Given the description of an element on the screen output the (x, y) to click on. 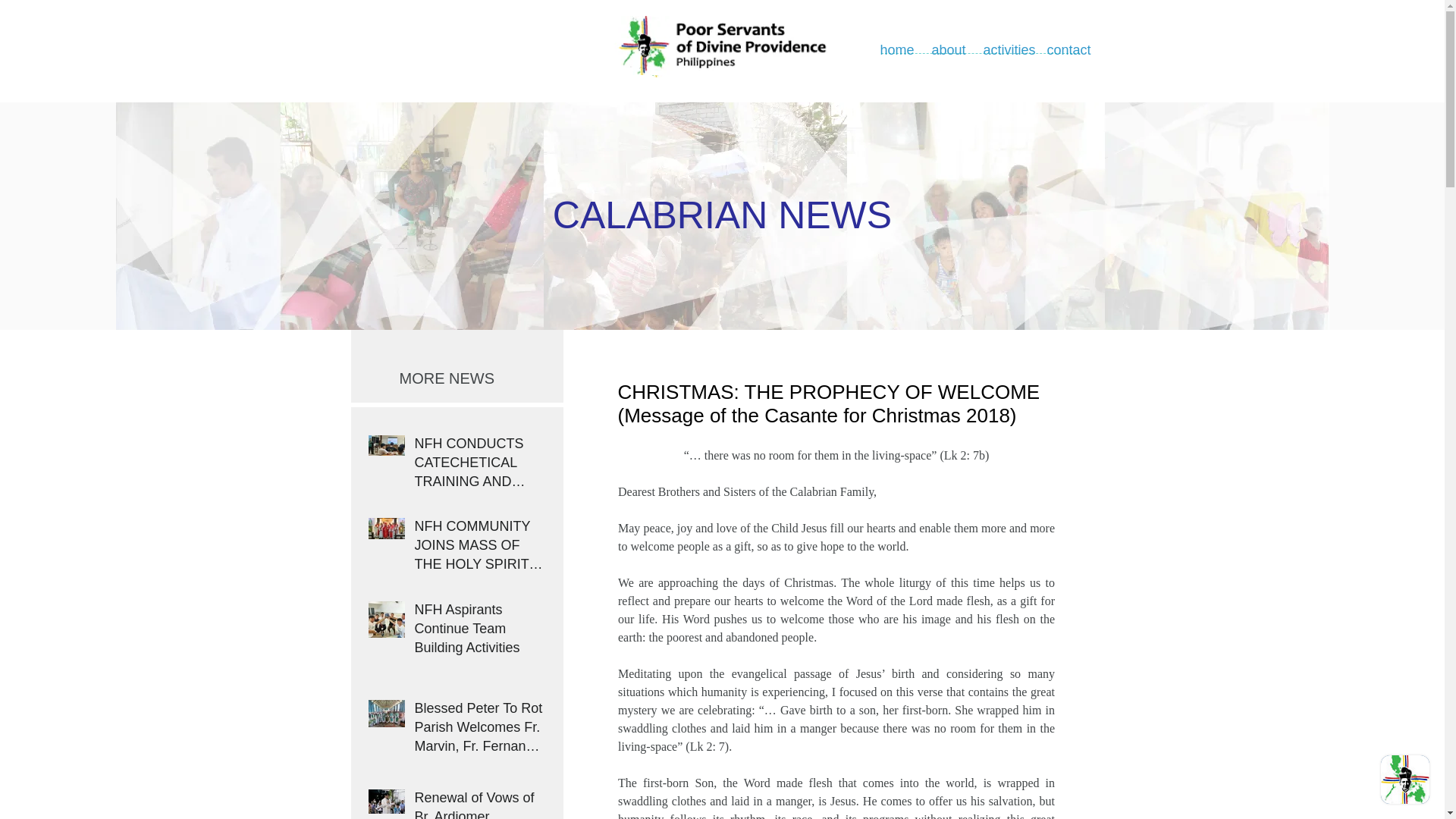
about (946, 50)
Renewal of Vows of Br. Ardiomer (479, 803)
home (894, 50)
NFH CONDUCTS CATECHETICAL TRAINING AND WORKSHOP (479, 465)
NFH COMMUNITY JOINS MASS OF THE HOLY SPIRIT AT SVPCS (479, 548)
activities (1003, 50)
NFH Aspirants Continue Team Building Activities (479, 632)
contact (1064, 50)
